Given the description of an element on the screen output the (x, y) to click on. 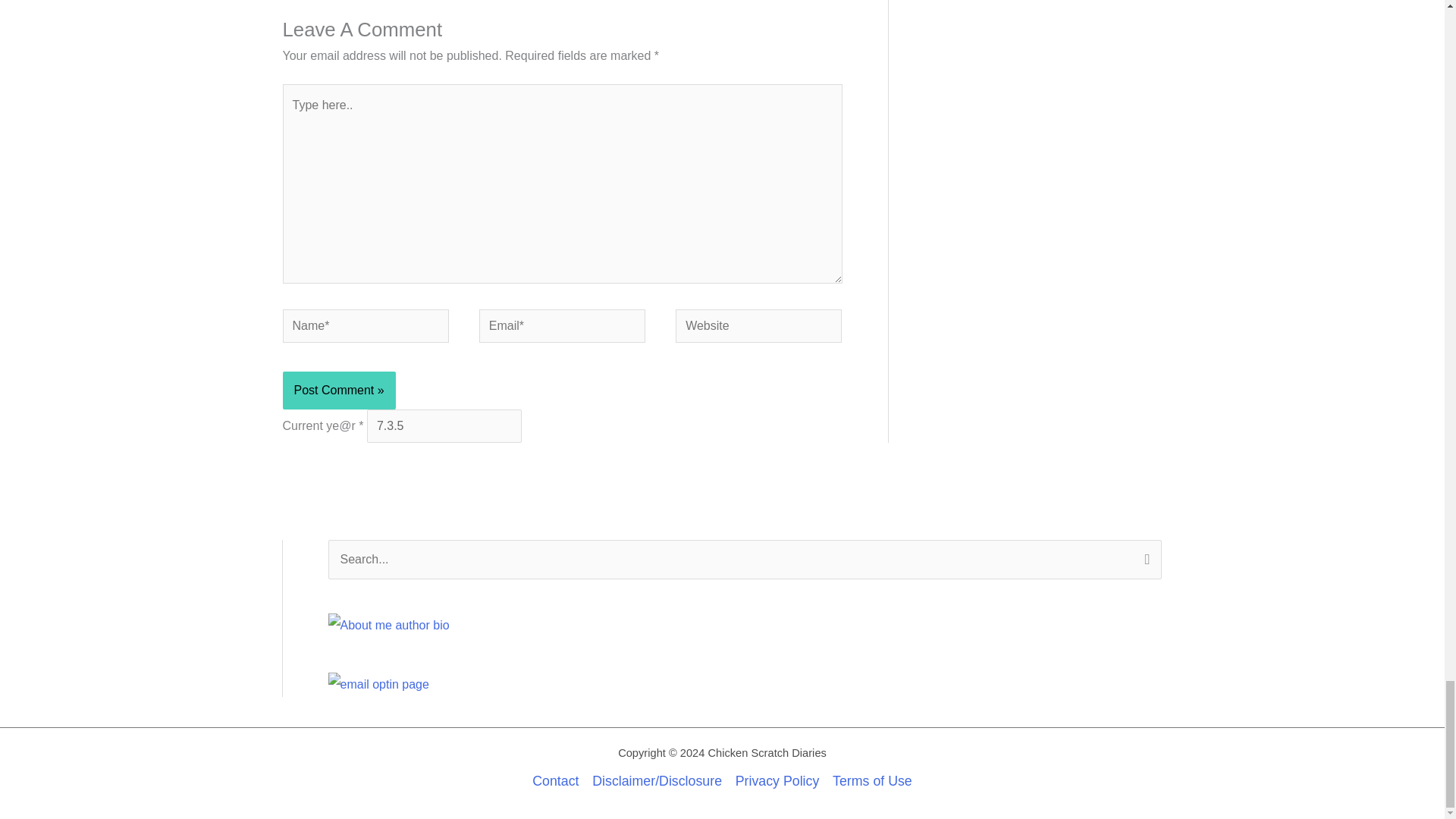
7.3.5 (443, 426)
